Given the description of an element on the screen output the (x, y) to click on. 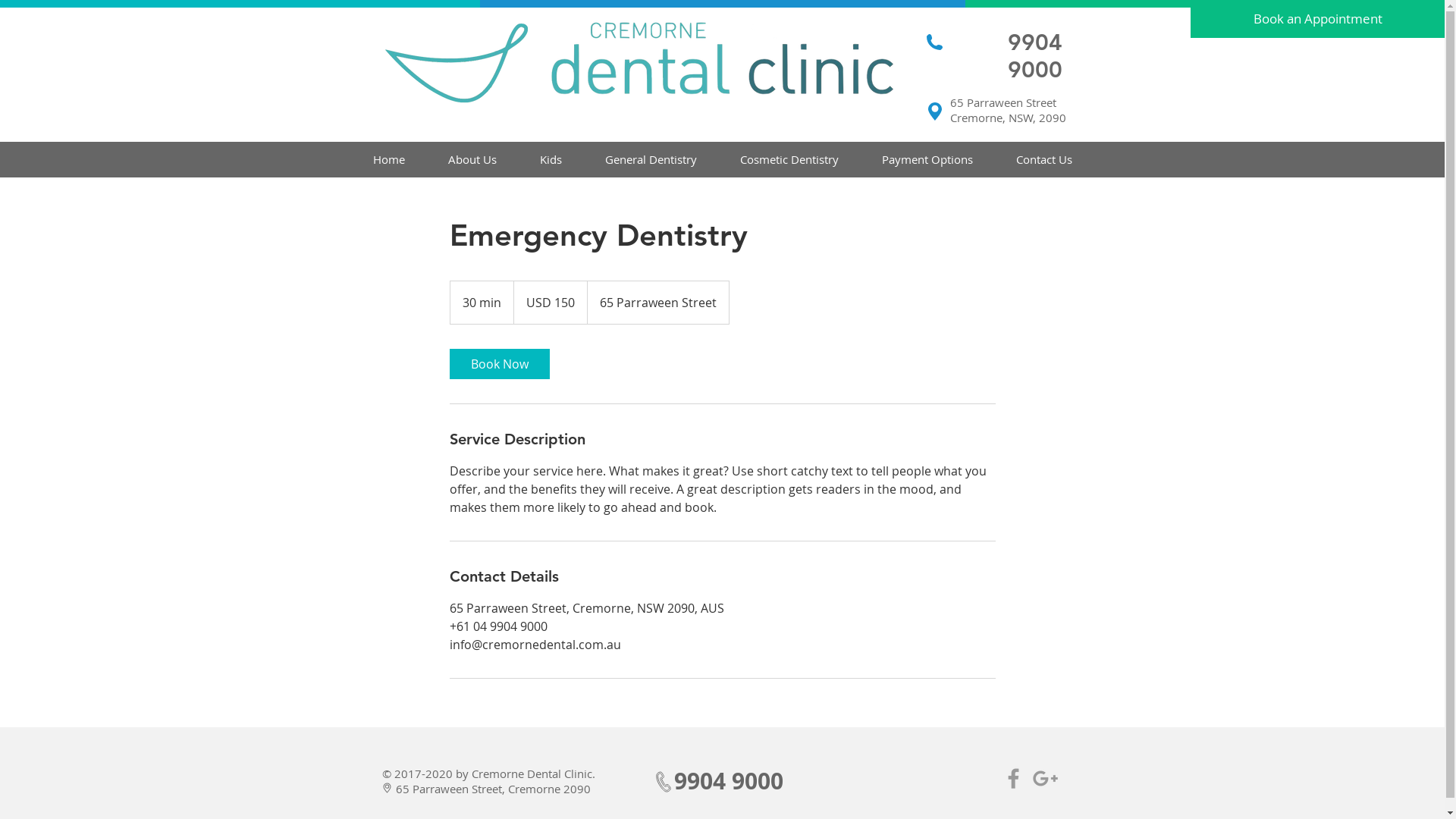
Book an Appointment Element type: text (1317, 18)
Home Element type: text (388, 159)
Cremorne, NSW, 2090 Element type: text (1007, 117)
Book Now Element type: text (498, 363)
Contact Us Element type: text (1044, 159)
9904 9000 Element type: text (1034, 55)
Kids Element type: text (550, 159)
65 Parraween Street Element type: text (1002, 101)
